Given the description of an element on the screen output the (x, y) to click on. 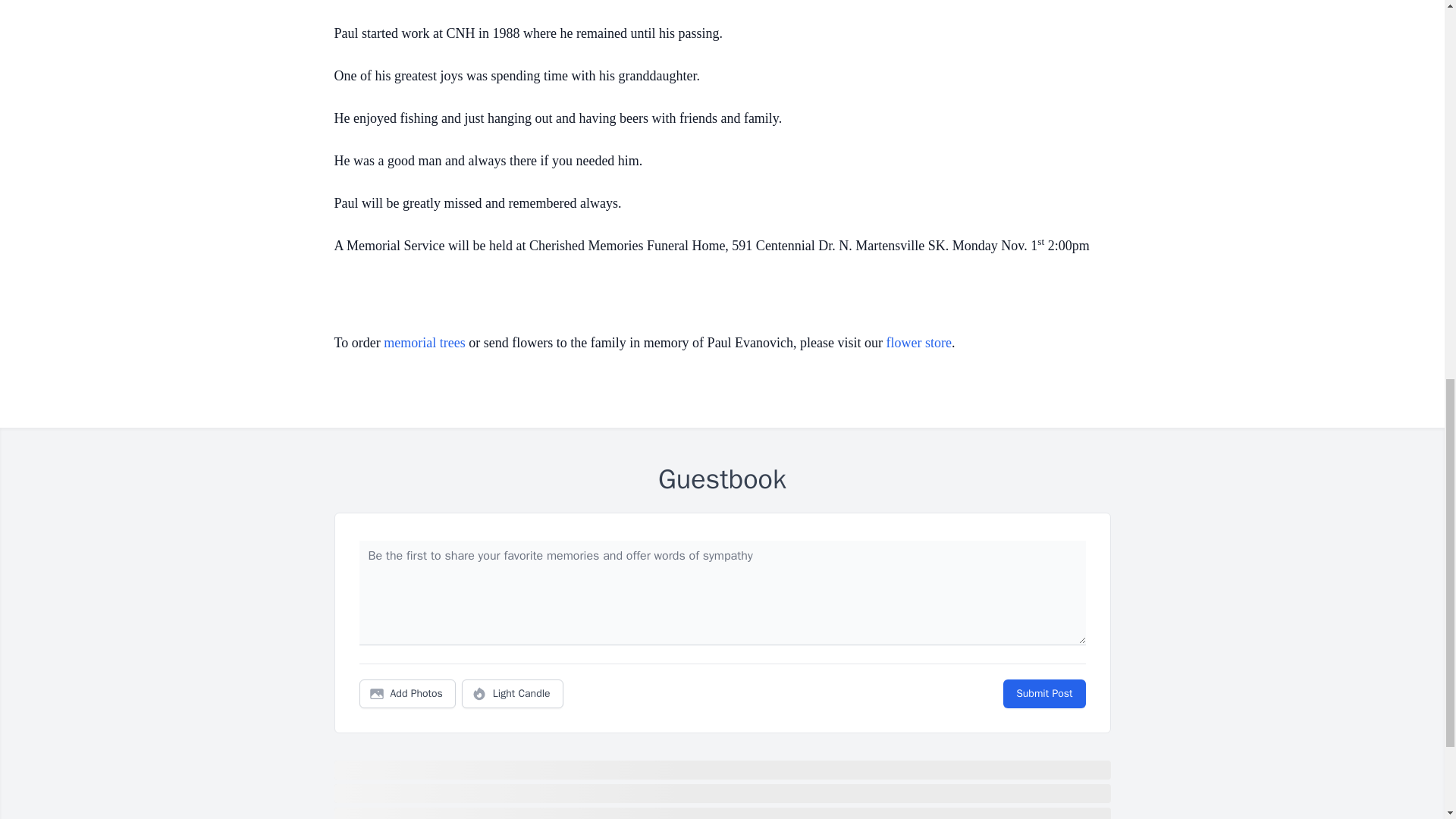
flower store (919, 342)
memorial trees (424, 342)
Light Candle (512, 693)
Add Photos (407, 693)
Submit Post (1043, 693)
